Given the description of an element on the screen output the (x, y) to click on. 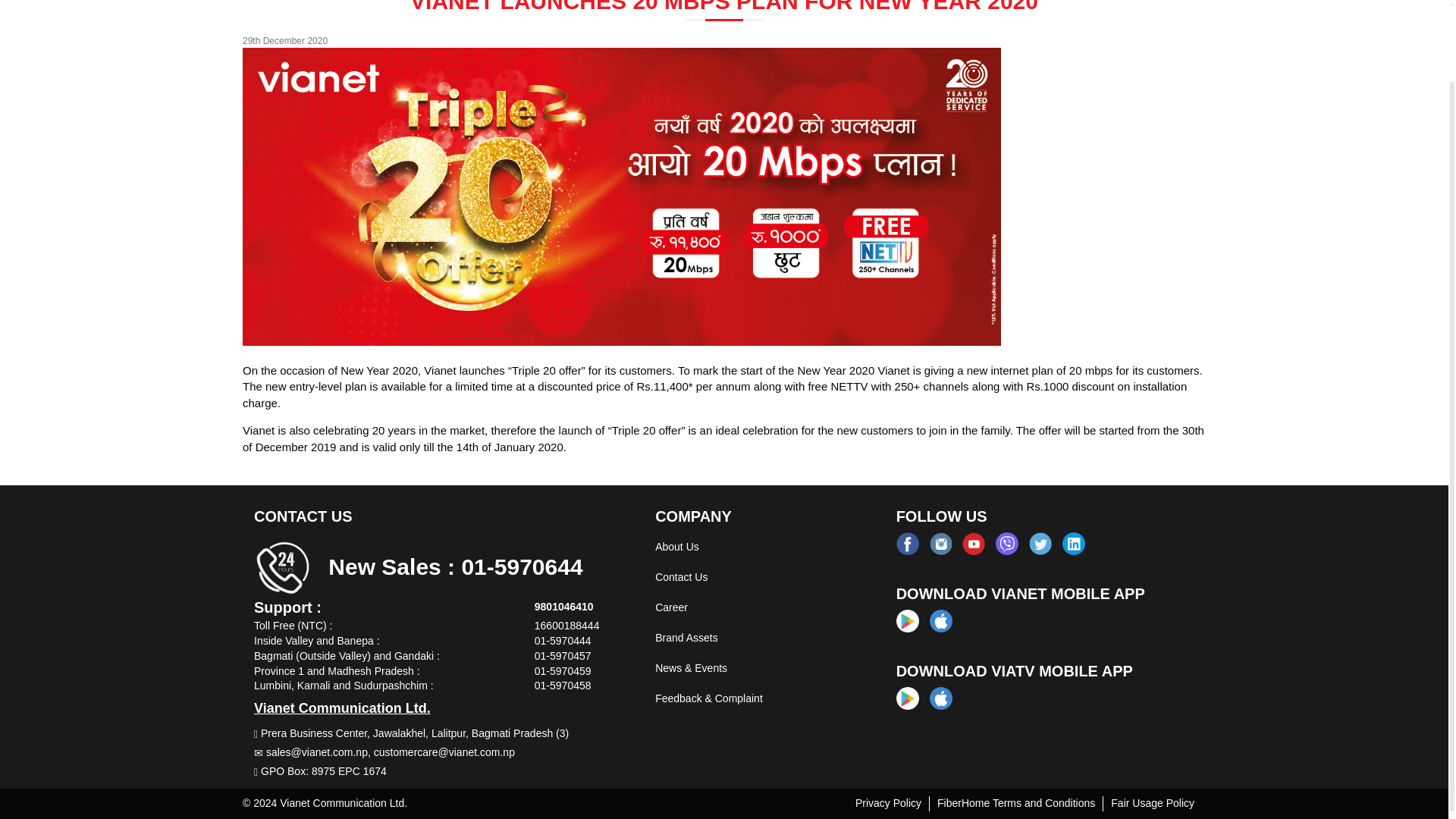
Brand Assets (686, 637)
16600188444 (566, 625)
9801046410 (564, 606)
01-5970444 (562, 640)
Career (671, 607)
About Us (676, 546)
01-5970457 (562, 655)
01-5970644 (521, 566)
Contact Us (681, 576)
01-5970459 (562, 670)
01-5970458 (562, 685)
